Given the description of an element on the screen output the (x, y) to click on. 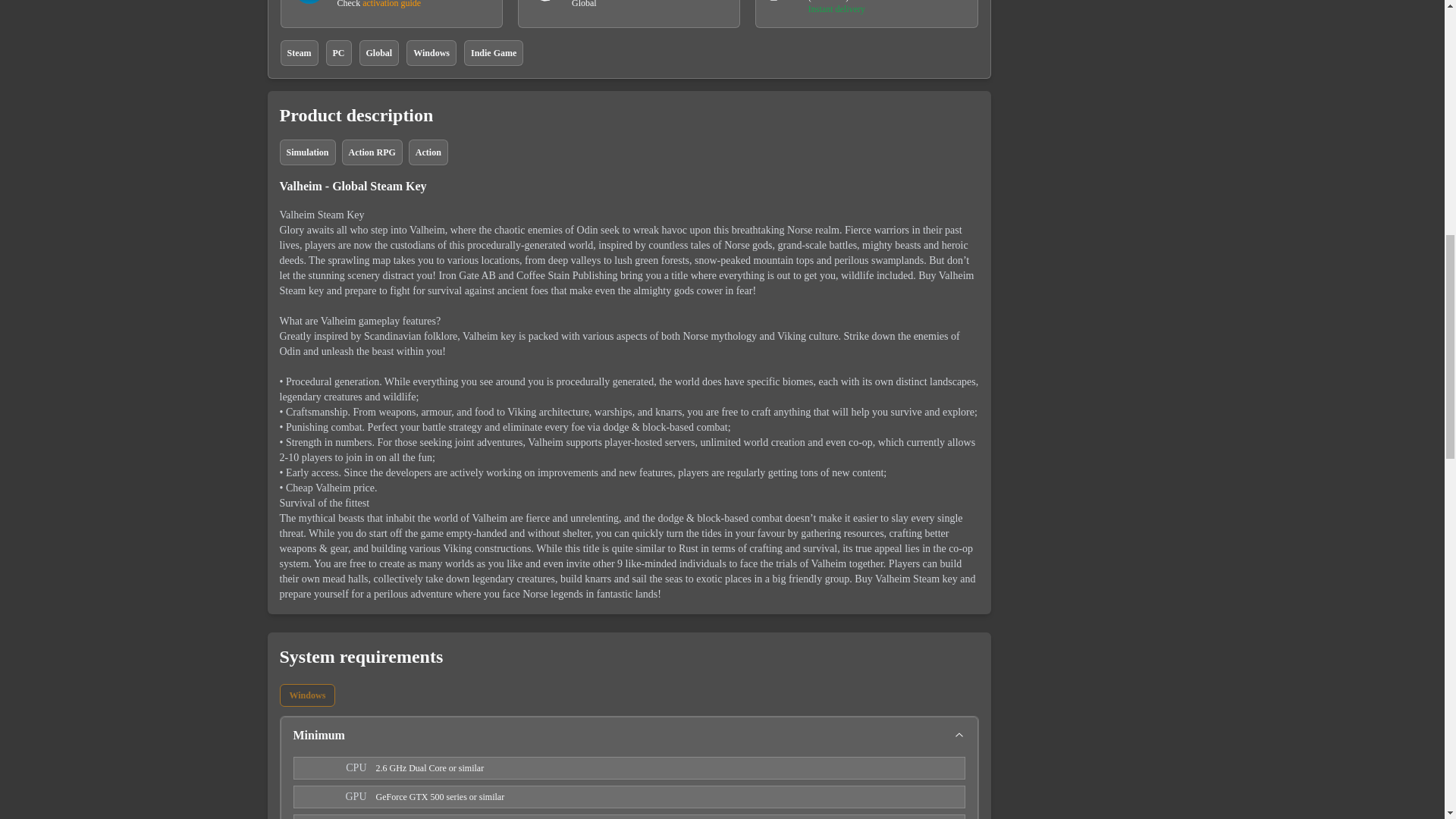
Steam (299, 53)
Minimum (627, 739)
Simulation (306, 152)
Action (428, 152)
Action RPG (372, 152)
Indie Game (493, 53)
Windows (306, 694)
activation guide (391, 4)
PC (339, 53)
Windows (431, 53)
